Given the description of an element on the screen output the (x, y) to click on. 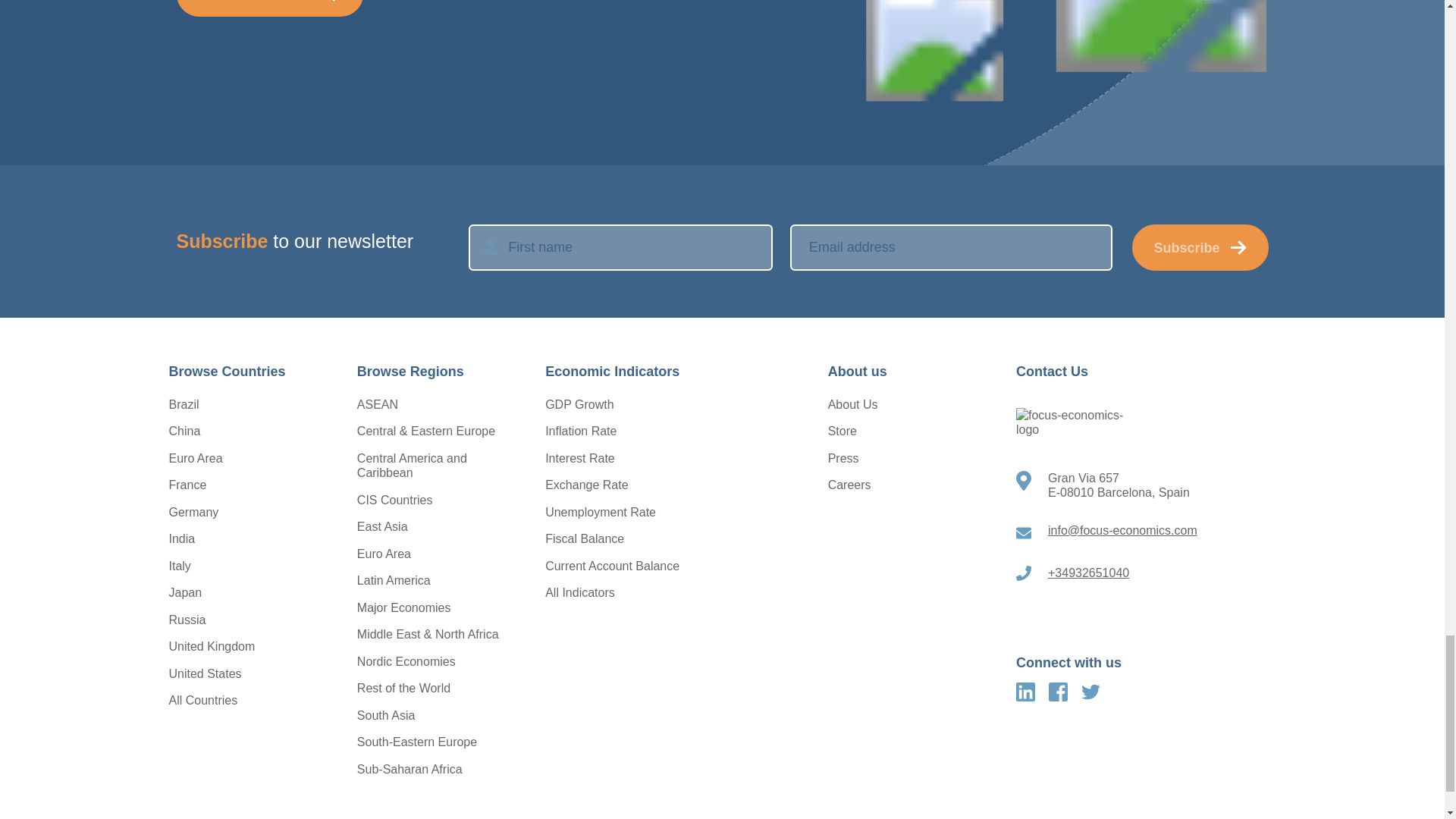
Subscribe (1200, 247)
